Given the description of an element on the screen output the (x, y) to click on. 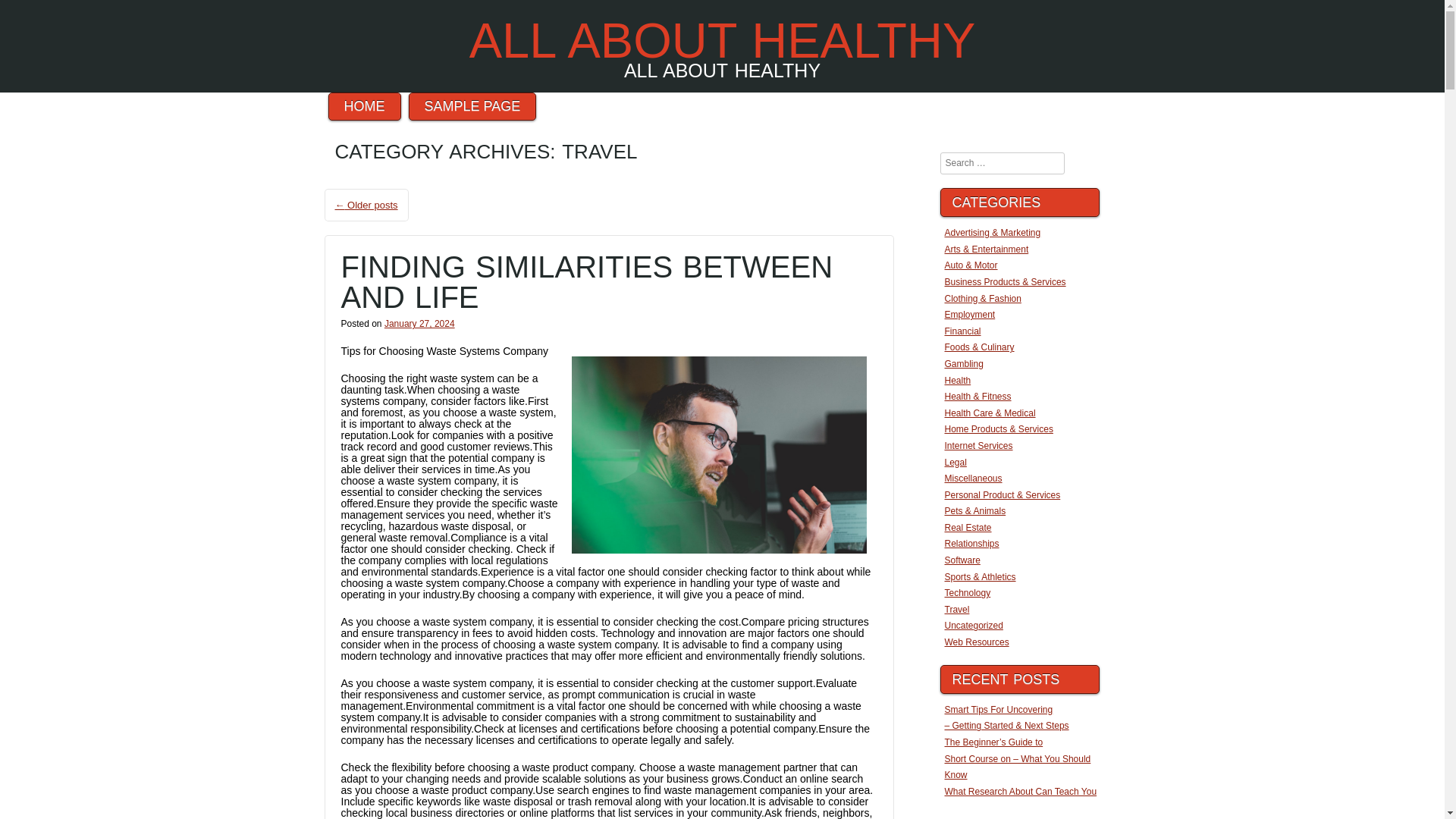
SAMPLE PAGE (473, 106)
Permalink to Finding Similarities Between  and Life (586, 281)
All about Healthy (721, 40)
FINDING SIMILARITIES BETWEEN AND LIFE (586, 281)
HOME (364, 106)
January 27, 2024 (419, 323)
8:24 am (419, 323)
ALL ABOUT HEALTHY (721, 40)
